Given the description of an element on the screen output the (x, y) to click on. 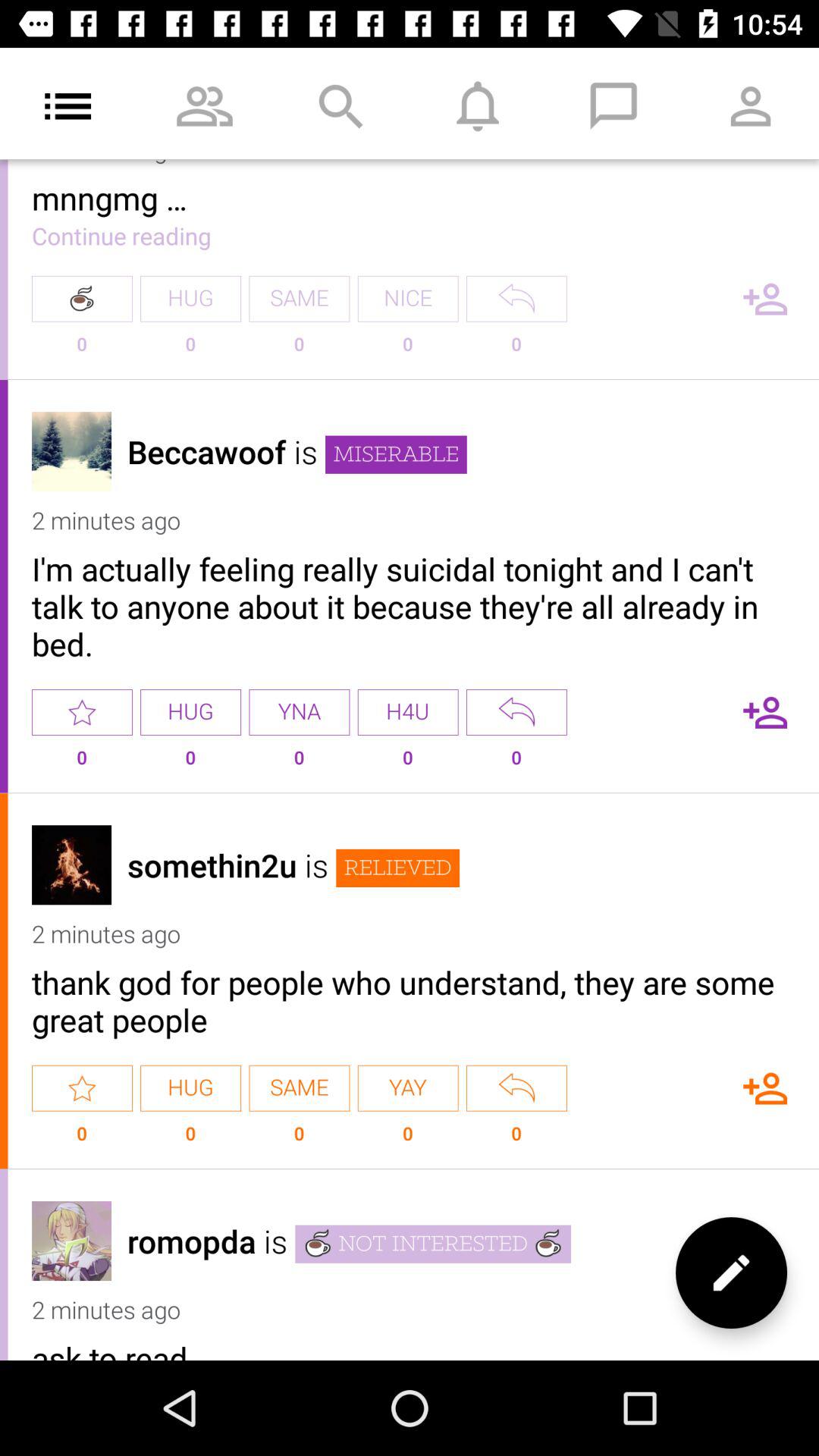
star rating (81, 1088)
